Given the description of an element on the screen output the (x, y) to click on. 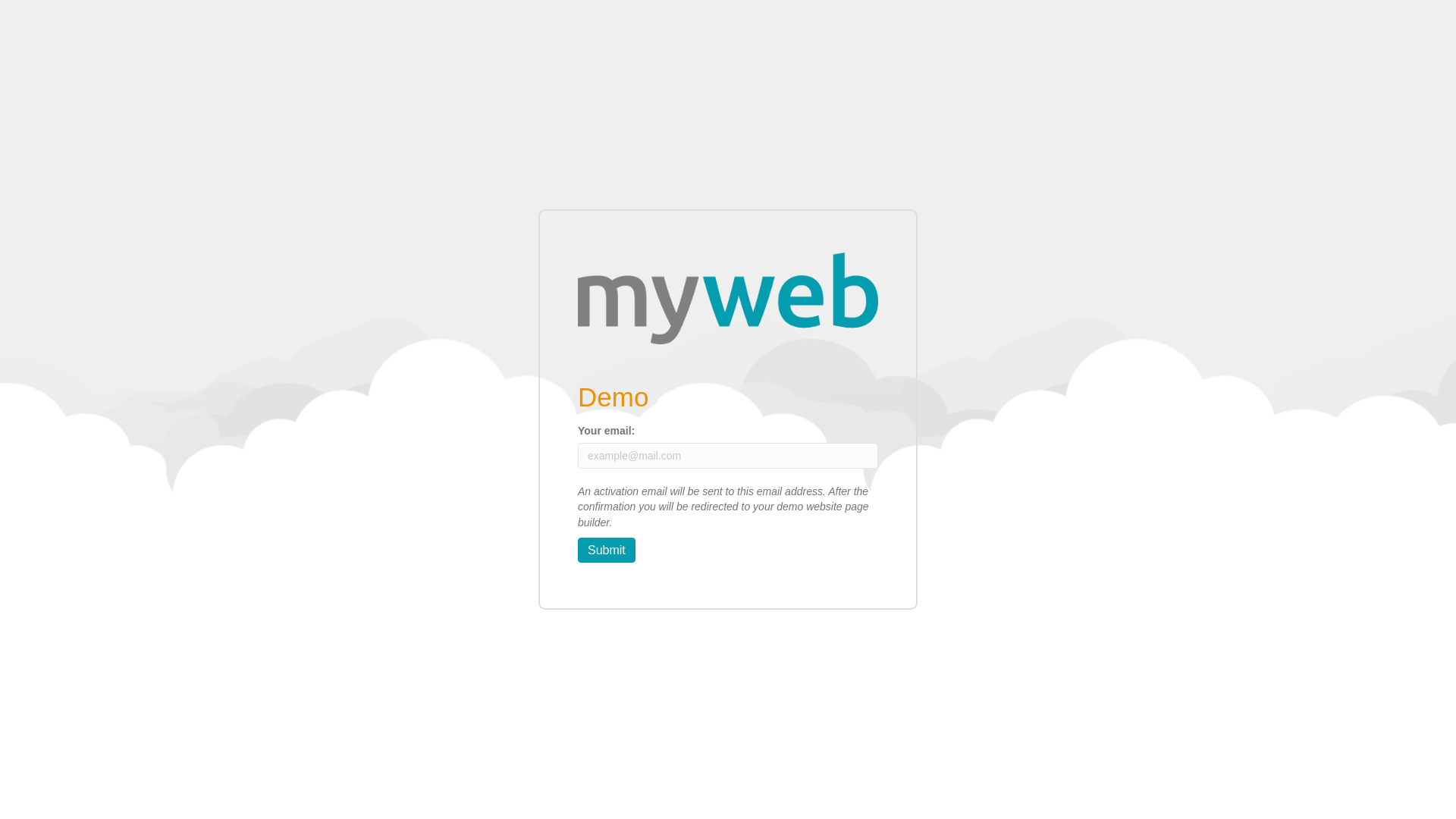
Submit Element type: text (606, 549)
